Given the description of an element on the screen output the (x, y) to click on. 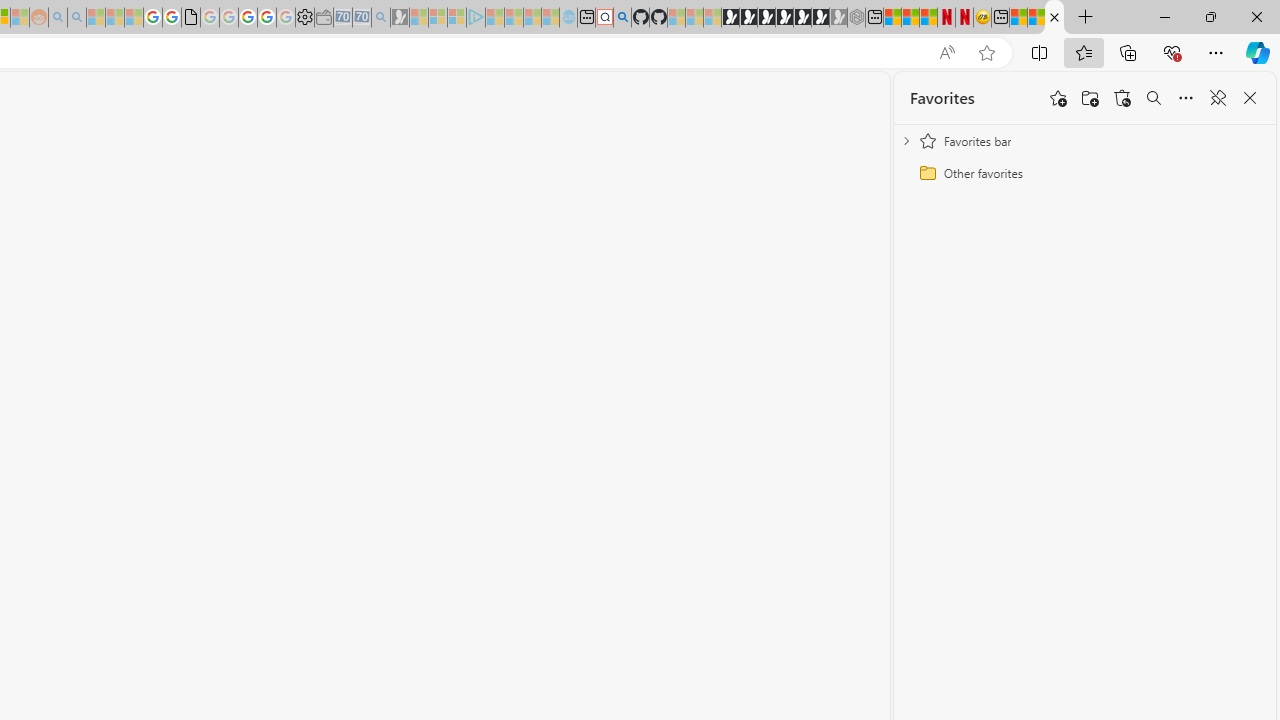
Add folder (1089, 98)
Close favorites (1250, 98)
Restore deleted favorites (1122, 98)
Cheap Car Rentals - Save70.com - Sleeping (362, 17)
Wildlife - MSN (1017, 17)
